Given the description of an element on the screen output the (x, y) to click on. 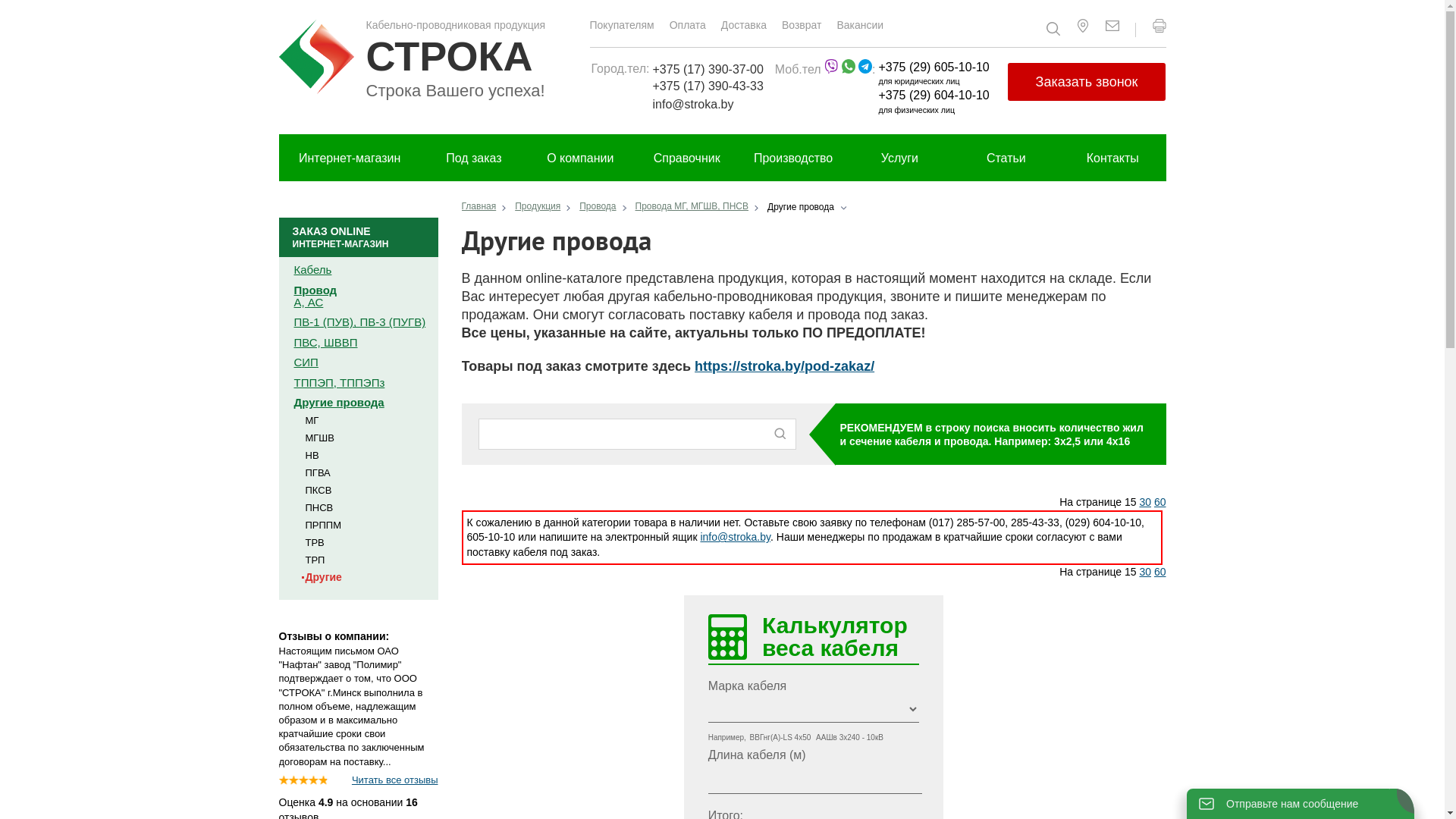
60 Element type: text (1160, 501)
viber (1).png Element type: hover (830, 66)
whatsapp.png Element type: hover (848, 66)
telegram.png Element type: hover (865, 66)
https://stroka.by/pod-zakaz/ Element type: text (784, 365)
info@stroka.by Element type: text (734, 536)
+375 (17) 390-43-33 Element type: text (707, 86)
+375 (29) 605-10-10 Element type: text (933, 67)
+375 (17) 390-37-00 Element type: text (707, 69)
info@stroka.by Element type: text (707, 104)
60 Element type: text (1160, 571)
30 Element type: text (1145, 571)
30 Element type: text (1145, 501)
